Given the description of an element on the screen output the (x, y) to click on. 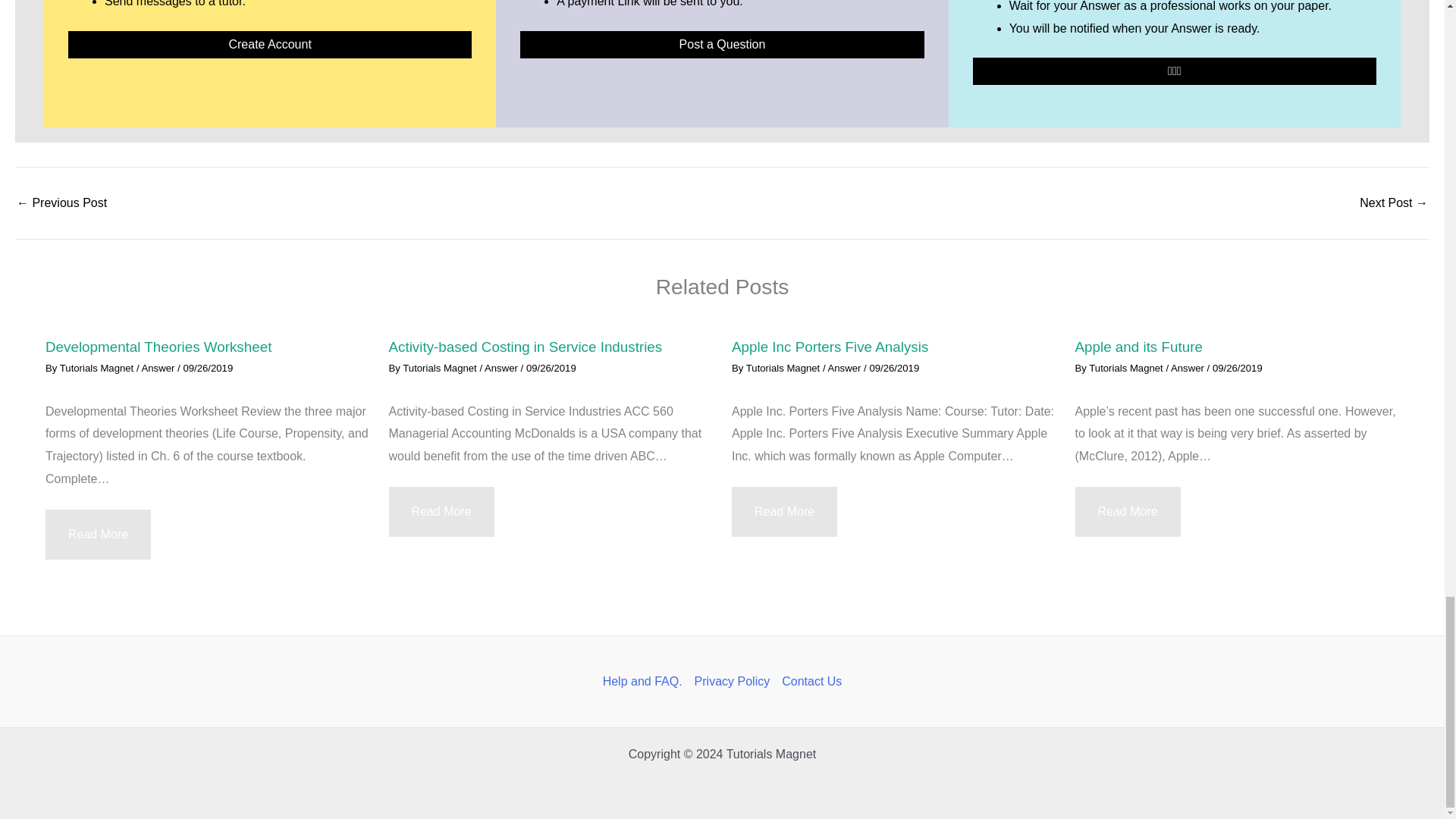
Create Account (269, 44)
View all posts by Tutorials Magnet (97, 367)
View all posts by Tutorials Magnet (783, 367)
View all posts by Tutorials Magnet (441, 367)
BIO 101 WEEK 4 AssignmentFish Organs and Adaptation Paper (61, 203)
View all posts by Tutorials Magnet (1127, 367)
